Given the description of an element on the screen output the (x, y) to click on. 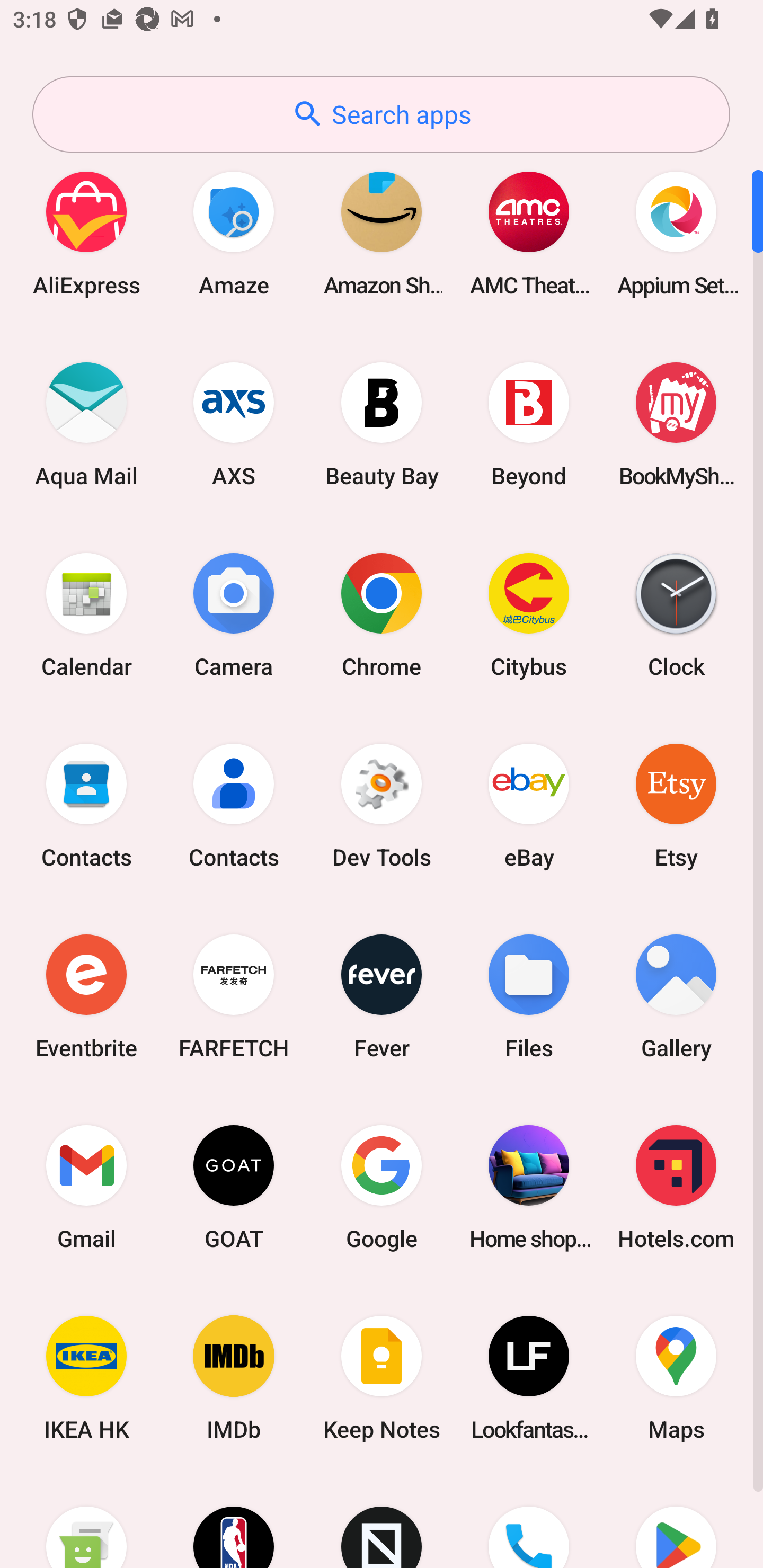
  Search apps (381, 114)
AliExpress (86, 233)
Amaze (233, 233)
Amazon Shopping (381, 233)
AMC Theatres (528, 233)
Appium Settings (676, 233)
Aqua Mail (86, 424)
AXS (233, 424)
Beauty Bay (381, 424)
Beyond (528, 424)
BookMyShow (676, 424)
Calendar (86, 614)
Camera (233, 614)
Chrome (381, 614)
Citybus (528, 614)
Clock (676, 614)
Contacts (86, 805)
Contacts (233, 805)
Dev Tools (381, 805)
eBay (528, 805)
Etsy (676, 805)
Eventbrite (86, 996)
FARFETCH (233, 996)
Fever (381, 996)
Files (528, 996)
Gallery (676, 996)
Gmail (86, 1186)
GOAT (233, 1186)
Google (381, 1186)
Home shopping (528, 1186)
Hotels.com (676, 1186)
IKEA HK (86, 1377)
IMDb (233, 1377)
Keep Notes (381, 1377)
Lookfantastic (528, 1377)
Maps (676, 1377)
